Given the description of an element on the screen output the (x, y) to click on. 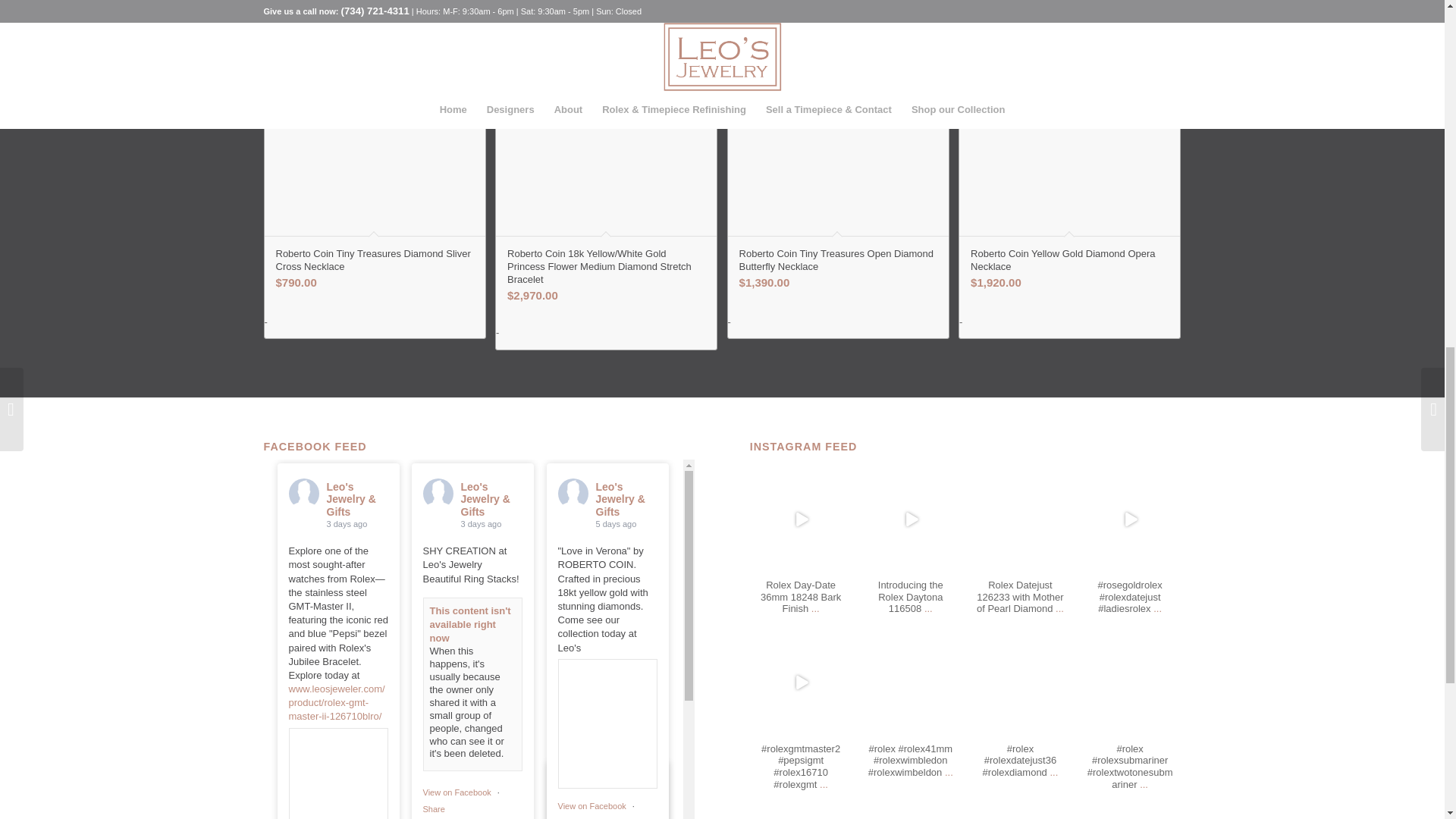
View on Facebook (458, 791)
View on Facebook (592, 805)
Share (434, 809)
